Given the description of an element on the screen output the (x, y) to click on. 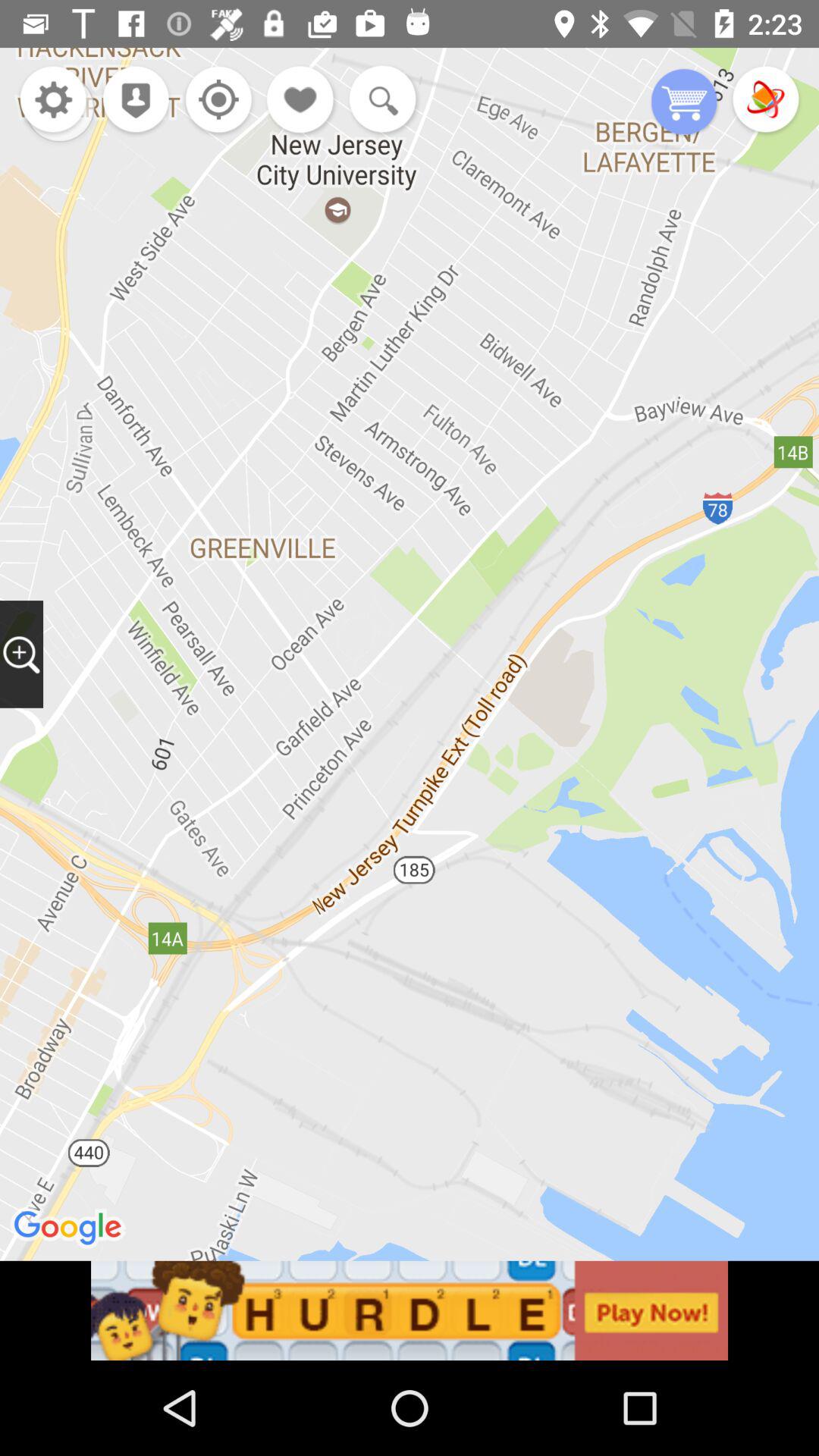
like button (300, 101)
